Given the description of an element on the screen output the (x, y) to click on. 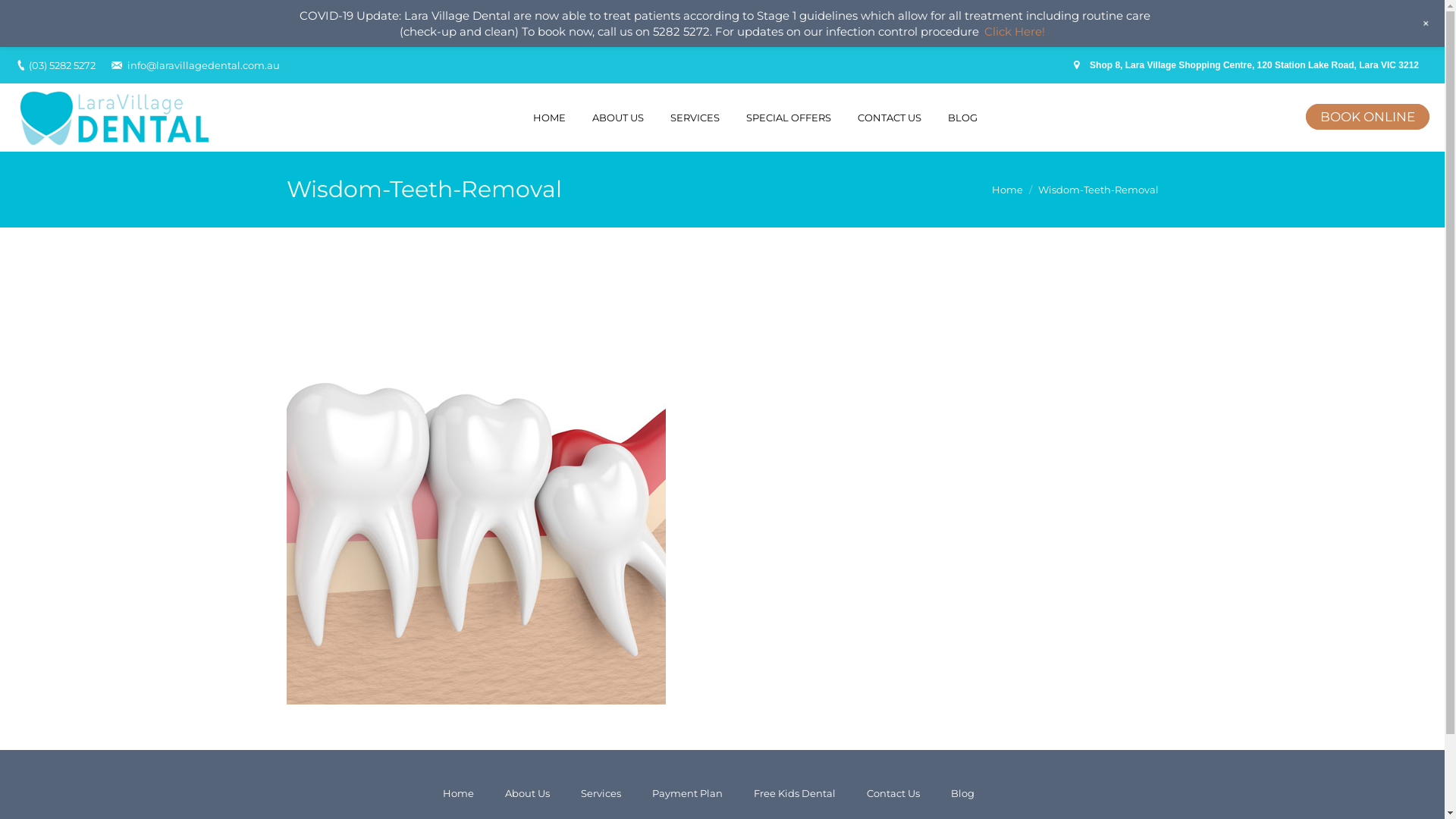
ABOUT US Element type: text (621, 117)
Free Kids Dental Element type: text (800, 793)
About Us Element type: text (533, 793)
SERVICES Element type: text (699, 117)
Services Element type: text (606, 793)
BLOG Element type: text (966, 117)
Home Element type: text (1006, 189)
Click Here! Element type: text (1014, 31)
SPECIAL OFFERS Element type: text (792, 117)
+ Element type: text (1425, 23)
(03) 5282 5272 Element type: text (61, 65)
Contact Us Element type: text (898, 793)
info@laravillagedental.com.au Element type: text (203, 65)
Blog Element type: text (967, 793)
HOME Element type: text (552, 117)
Home Element type: text (463, 793)
Payment Plan Element type: text (693, 793)
BOOK ONLINE Element type: text (1367, 116)
CONTACT US Element type: text (892, 117)
